Given the description of an element on the screen output the (x, y) to click on. 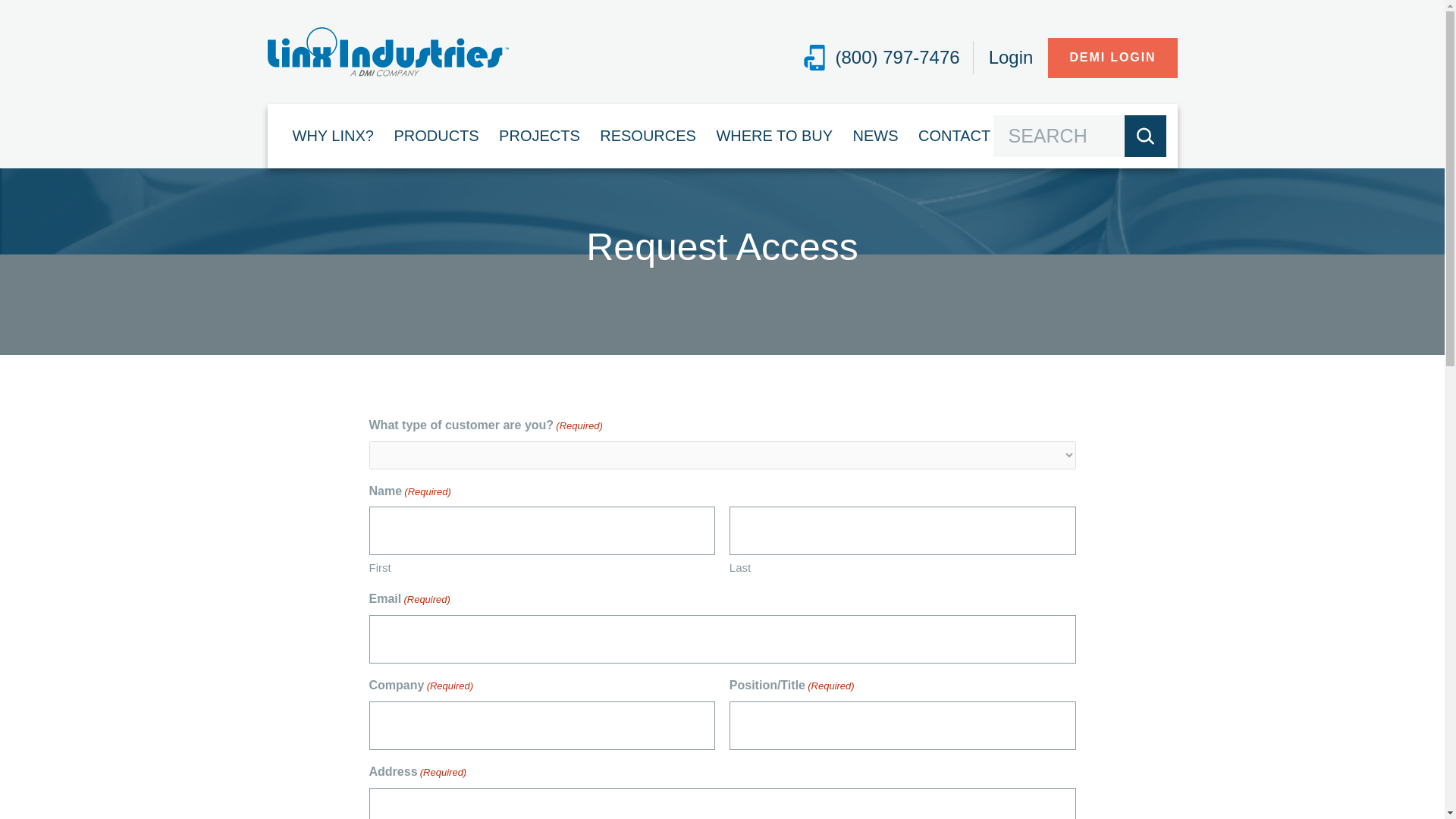
PRODUCTS (435, 135)
WHY LINX? (332, 135)
Login (1010, 57)
DEMI LOGIN (1112, 57)
Linx Industries (387, 51)
